Given the description of an element on the screen output the (x, y) to click on. 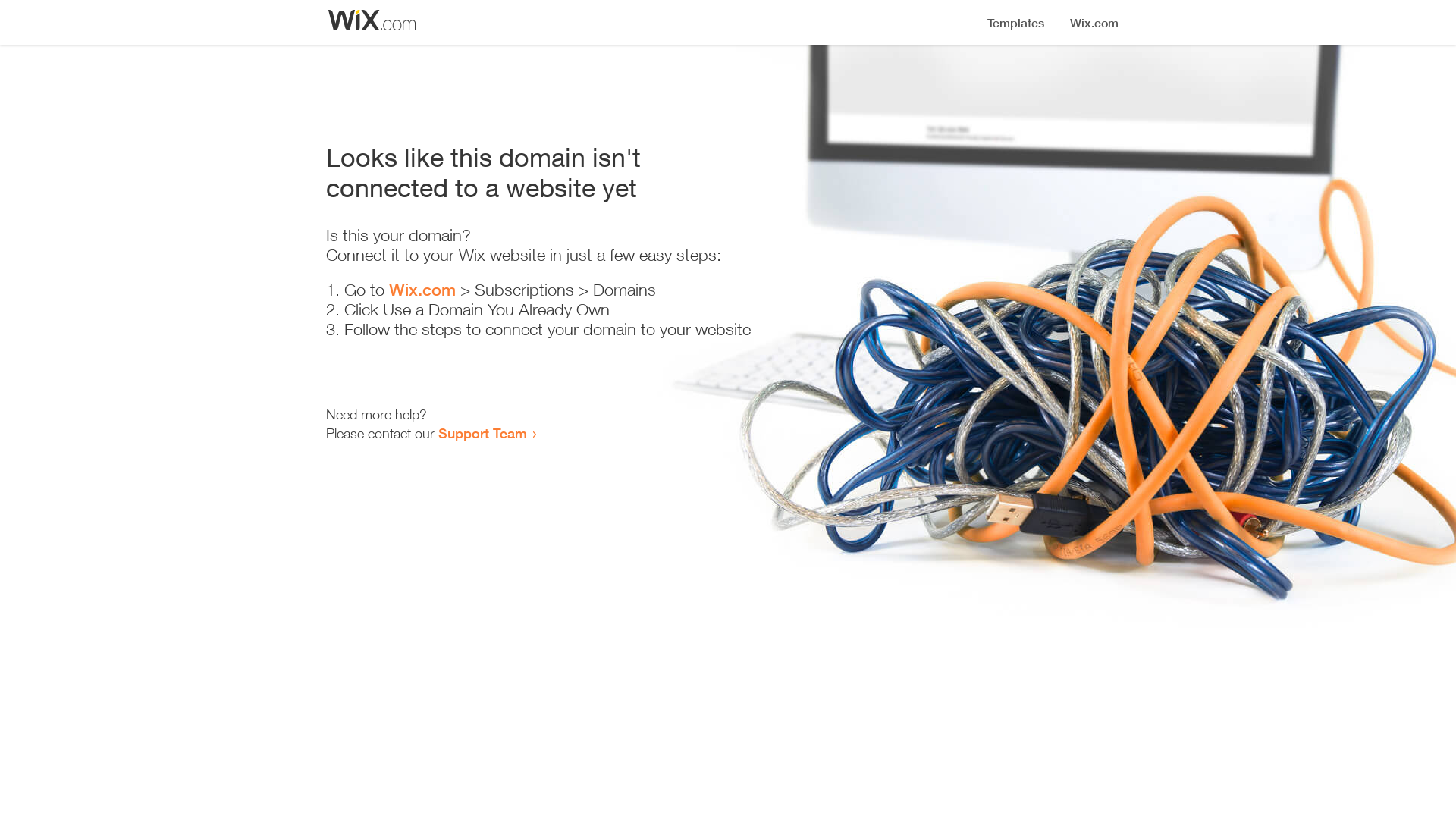
Wix.com Element type: text (422, 289)
Support Team Element type: text (482, 432)
